Given the description of an element on the screen output the (x, y) to click on. 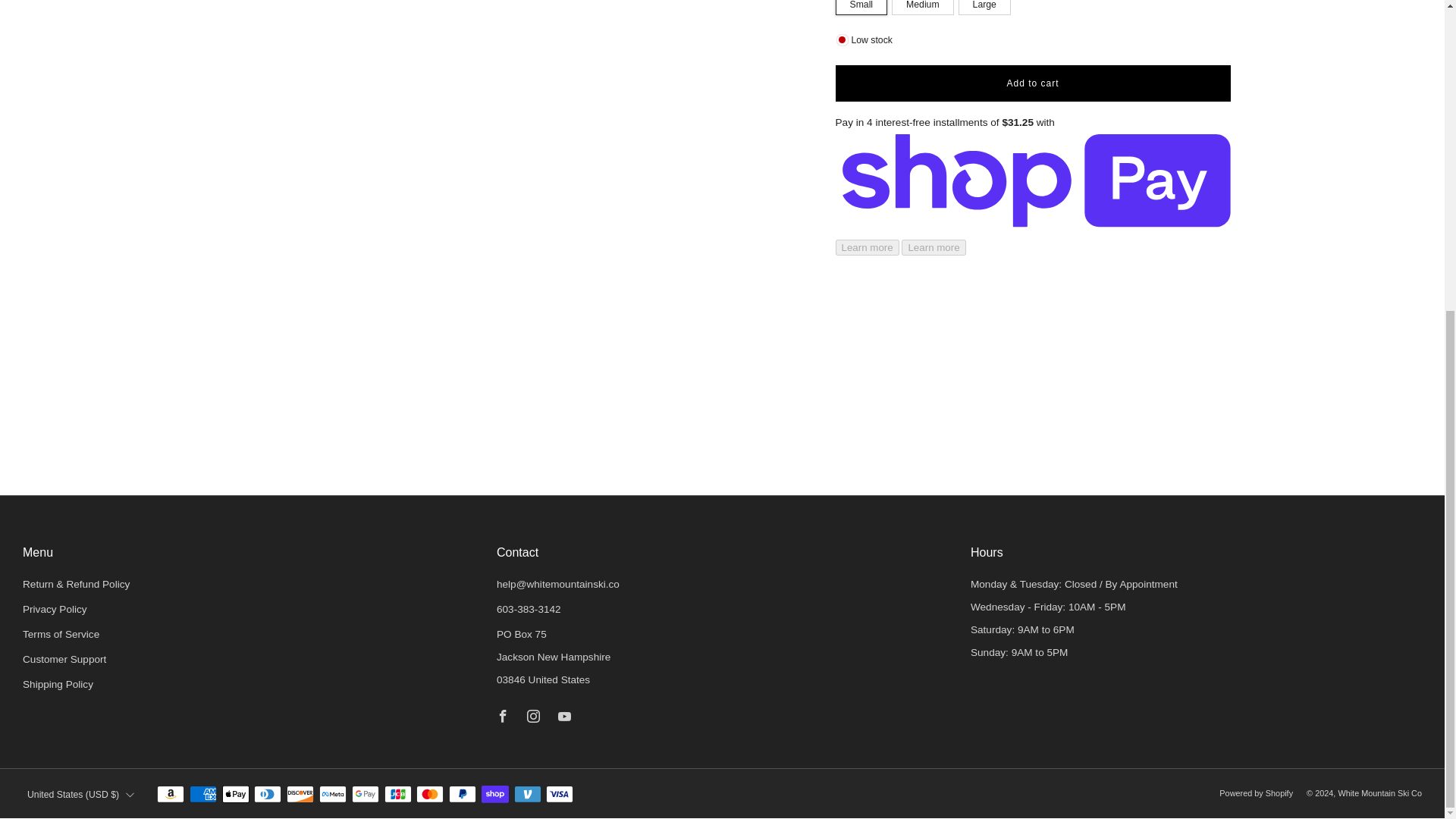
Large (986, 7)
Medium (924, 7)
Small (863, 7)
